Given the description of an element on the screen output the (x, y) to click on. 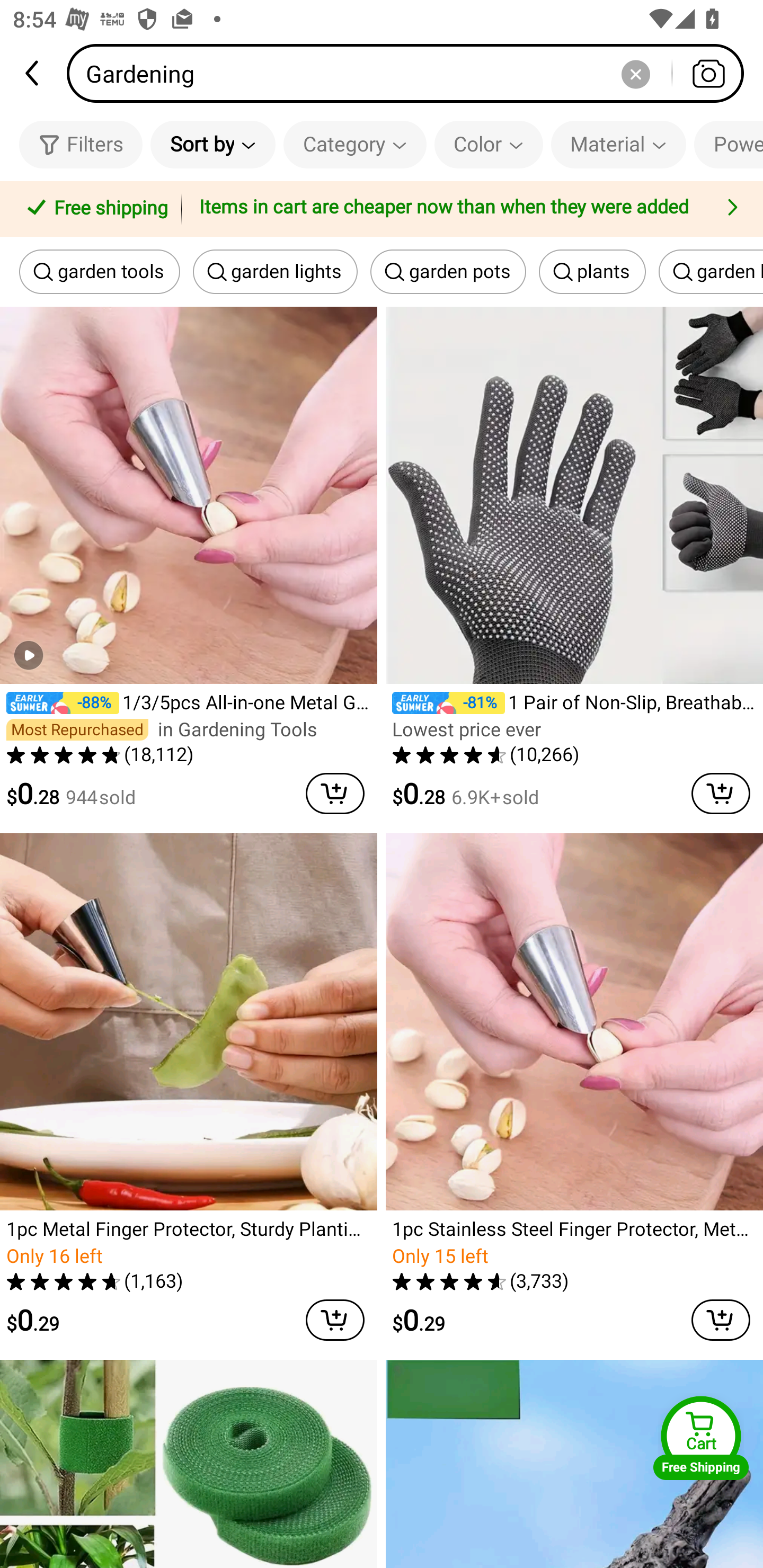
back (33, 72)
Gardening (411, 73)
Delete search history (635, 73)
Search by photo (708, 73)
Filters (80, 143)
Sort by (212, 143)
Category (354, 143)
Color (488, 143)
Material (617, 143)
Power Supply (728, 143)
 Free shipping (93, 208)
garden tools (99, 271)
garden lights (275, 271)
garden pots (448, 271)
plants (592, 271)
garden bed (710, 271)
Cart Free Shipping Cart (701, 1437)
